Given the description of an element on the screen output the (x, y) to click on. 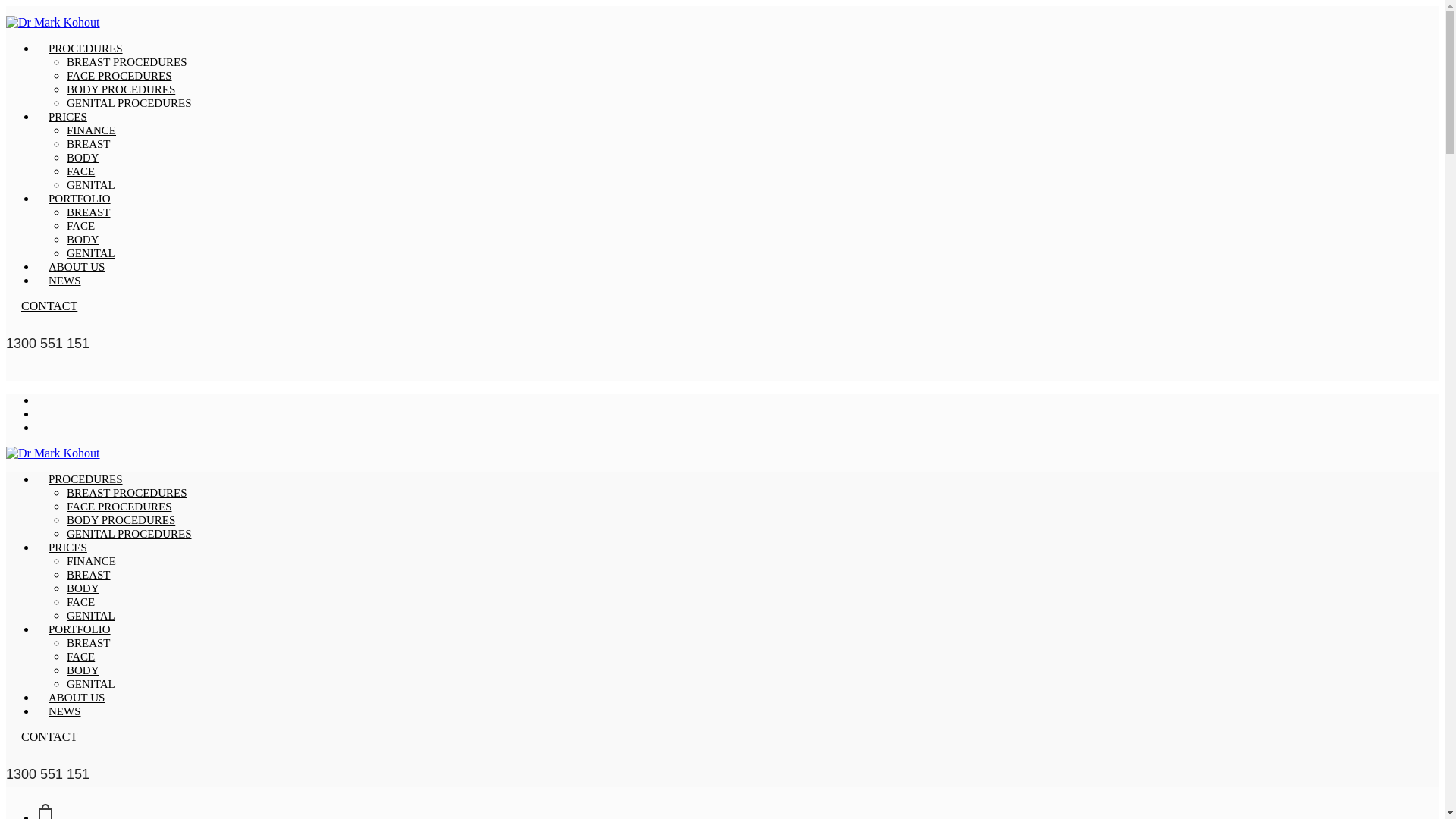
GENITAL Element type: text (90, 184)
FACE Element type: text (80, 656)
BREAST Element type: text (88, 144)
PROCEDURES Element type: text (85, 479)
BREAST Element type: text (88, 643)
GENITAL PROCEDURES Element type: text (128, 533)
BODY Element type: text (82, 239)
PRICES Element type: text (67, 547)
BODY Element type: text (82, 157)
PROCEDURES Element type: text (85, 48)
FACE Element type: text (80, 225)
ABOUT US Element type: text (76, 697)
BODY Element type: text (82, 670)
BREAST Element type: text (88, 212)
PORTFOLIO Element type: text (79, 629)
FINANCE Element type: text (91, 130)
GENITAL PROCEDURES Element type: text (128, 103)
ABOUT US Element type: text (76, 266)
BREAST Element type: text (88, 574)
BREAST PROCEDURES Element type: text (126, 492)
NEWS Element type: text (64, 711)
BODY Element type: text (82, 588)
GENITAL Element type: text (90, 615)
BODY PROCEDURES Element type: text (120, 89)
FACE Element type: text (80, 602)
GENITAL Element type: text (90, 253)
FACE PROCEDURES Element type: text (119, 506)
BREAST PROCEDURES Element type: text (126, 62)
PRICES Element type: text (67, 116)
FINANCE Element type: text (91, 561)
PORTFOLIO Element type: text (79, 198)
GENITAL Element type: text (90, 683)
NEWS Element type: text (64, 280)
BODY PROCEDURES Element type: text (120, 520)
CONTACT Element type: text (49, 736)
FACE PROCEDURES Element type: text (119, 75)
FACE Element type: text (80, 171)
CONTACT Element type: text (49, 305)
